Given the description of an element on the screen output the (x, y) to click on. 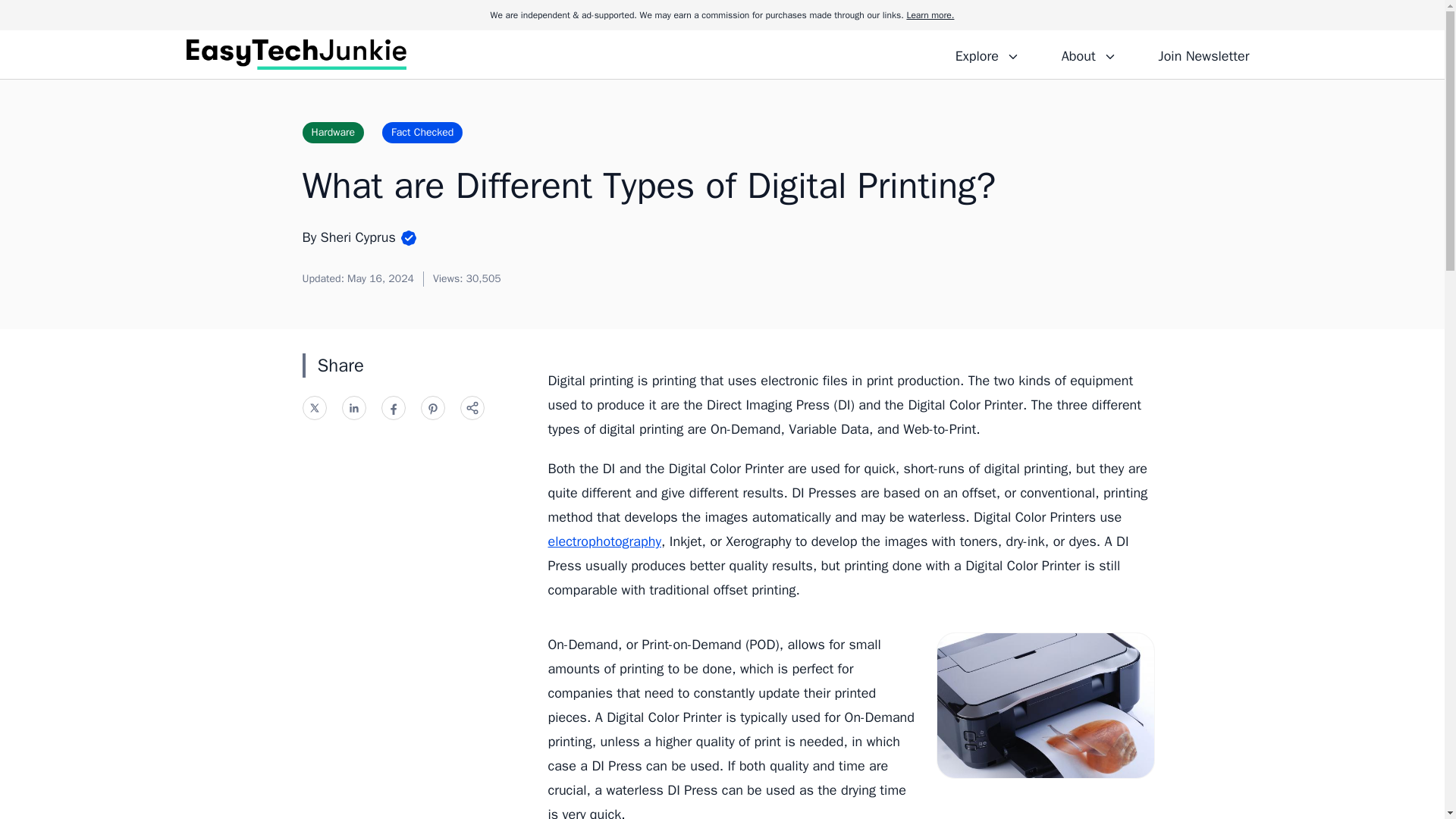
Fact Checked (422, 132)
electrophotography (604, 541)
Explore (986, 54)
Hardware (332, 132)
About (1088, 54)
Join Newsletter (1202, 54)
Learn more. (929, 15)
